Given the description of an element on the screen output the (x, y) to click on. 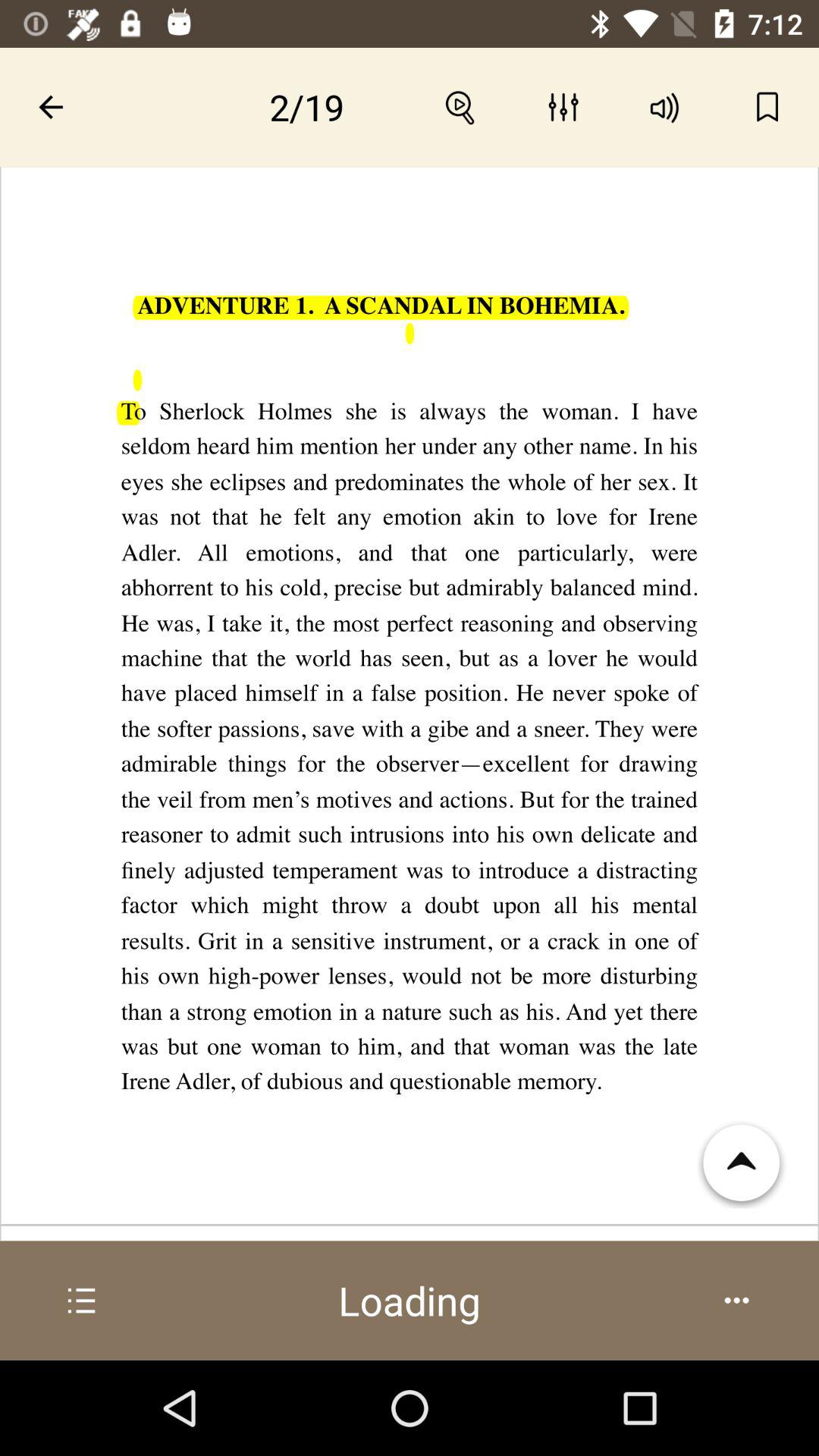
go to previous (51, 106)
